Given the description of an element on the screen output the (x, y) to click on. 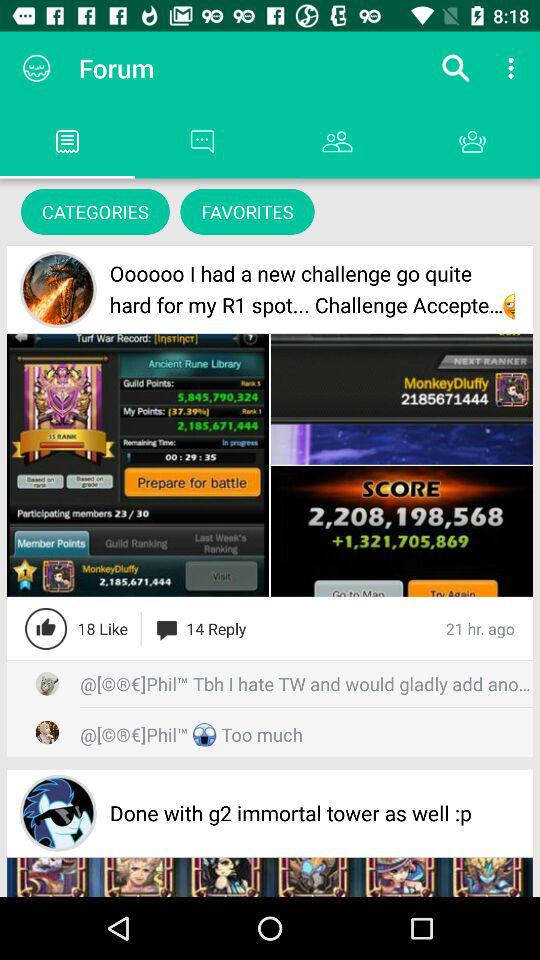
turn on the app to the left of forum item (36, 68)
